Given the description of an element on the screen output the (x, y) to click on. 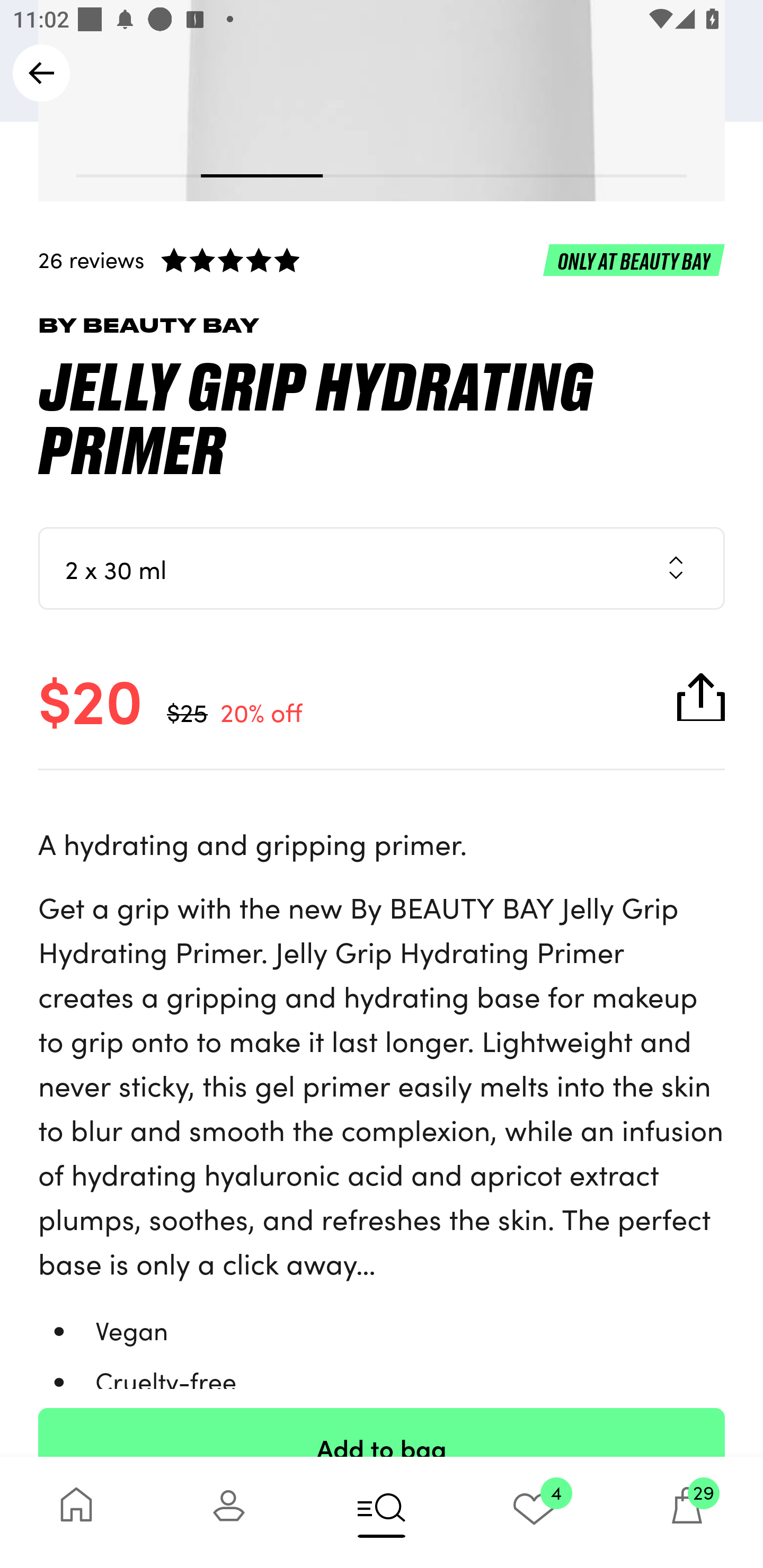
26 reviews (381, 259)
2 x 30 ml  (381, 567)
4 (533, 1512)
29 (686, 1512)
